Given the description of an element on the screen output the (x, y) to click on. 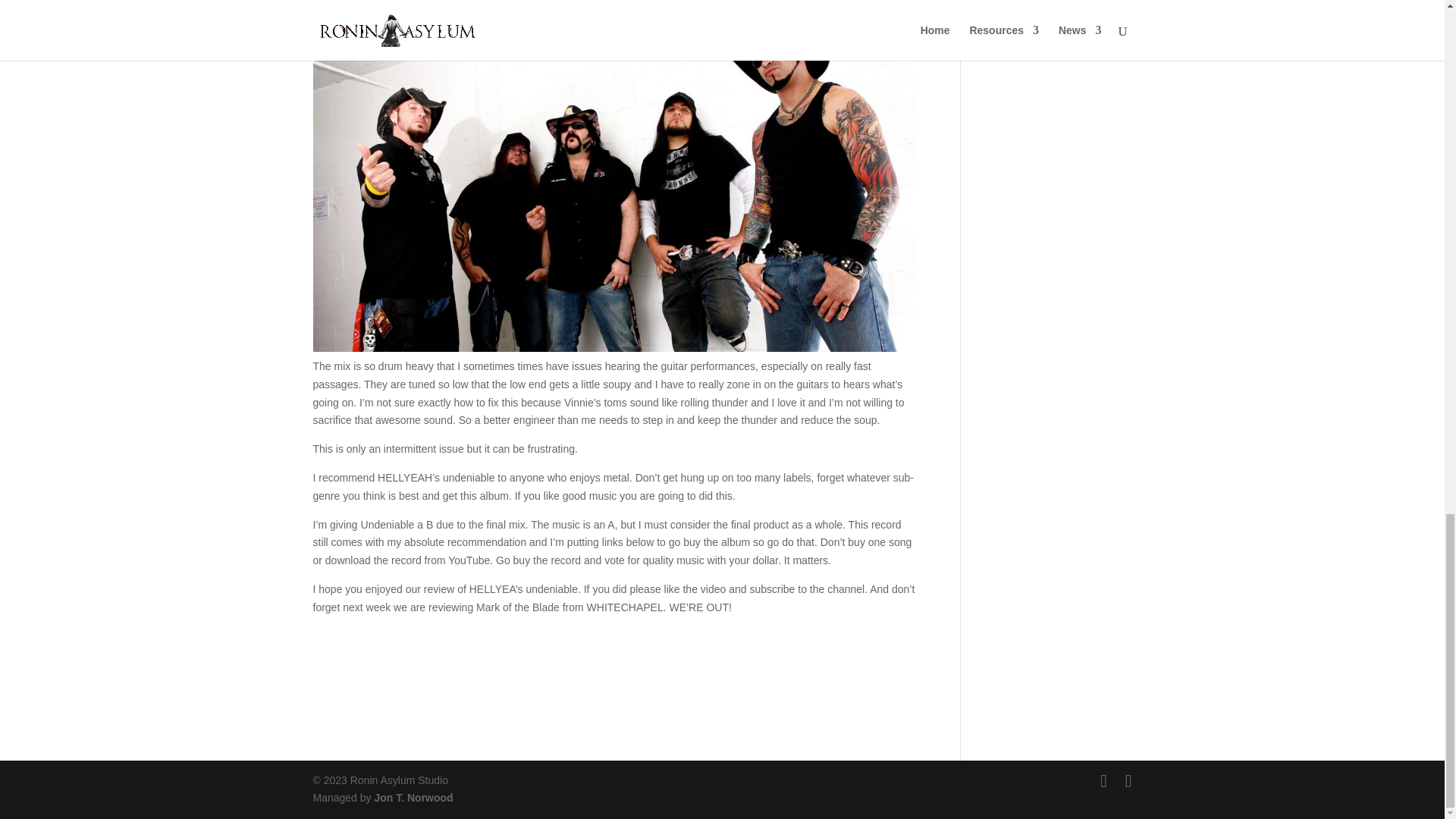
Jon T. Norwood (413, 797)
